Given the description of an element on the screen output the (x, y) to click on. 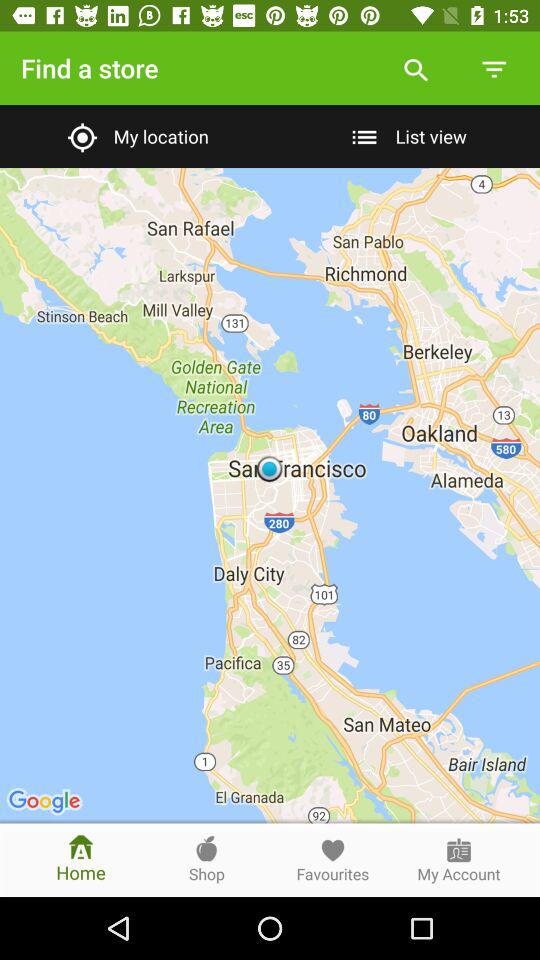
click item next to list view (134, 136)
